Given the description of an element on the screen output the (x, y) to click on. 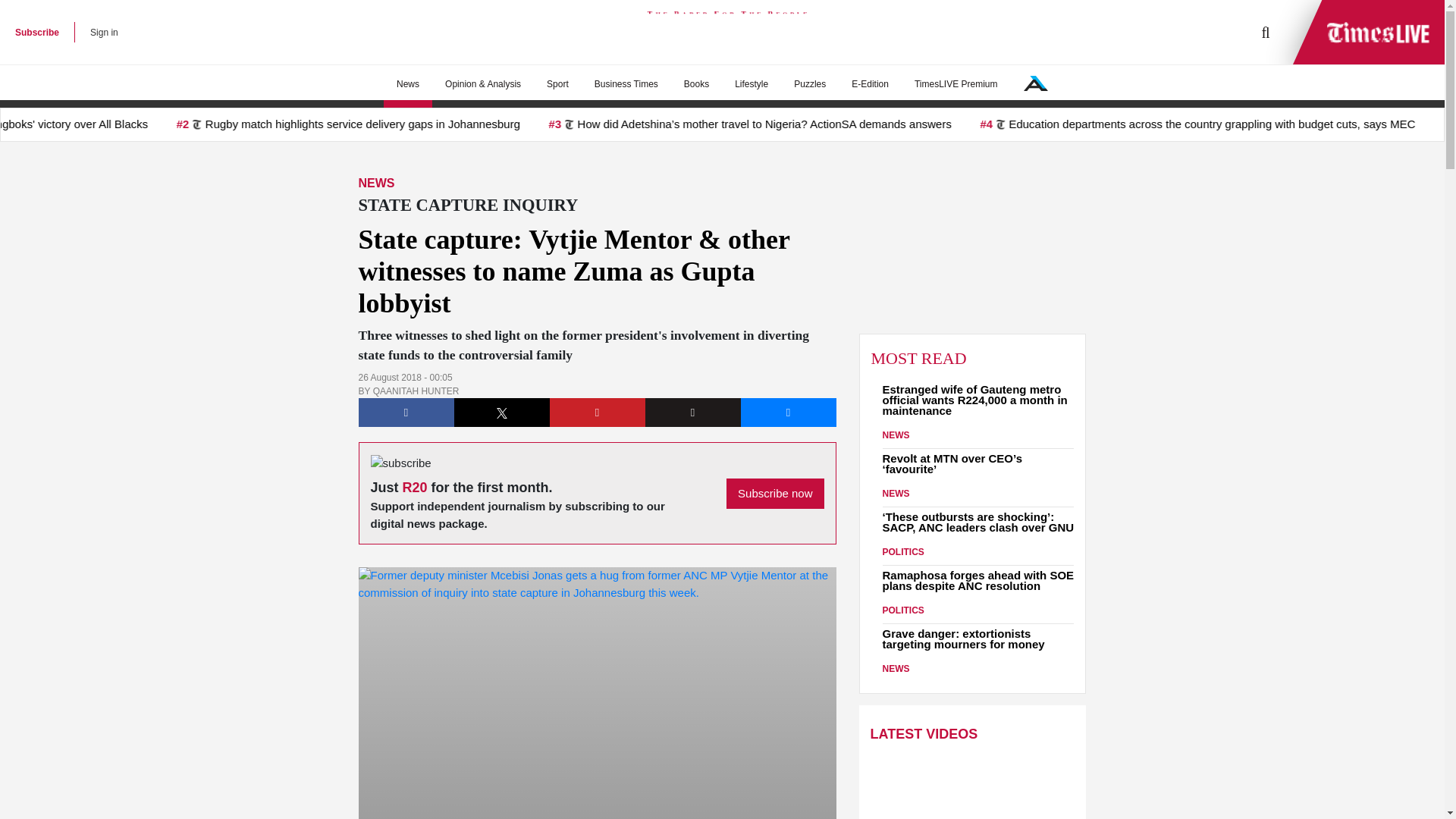
Subscribe (36, 32)
Our Network (1035, 83)
TimesLIVE Premium (955, 84)
News (408, 84)
Business Times (625, 84)
Sport (557, 84)
Sign in (103, 32)
Puzzles (809, 84)
E-Edition (869, 84)
Books (696, 84)
